Given the description of an element on the screen output the (x, y) to click on. 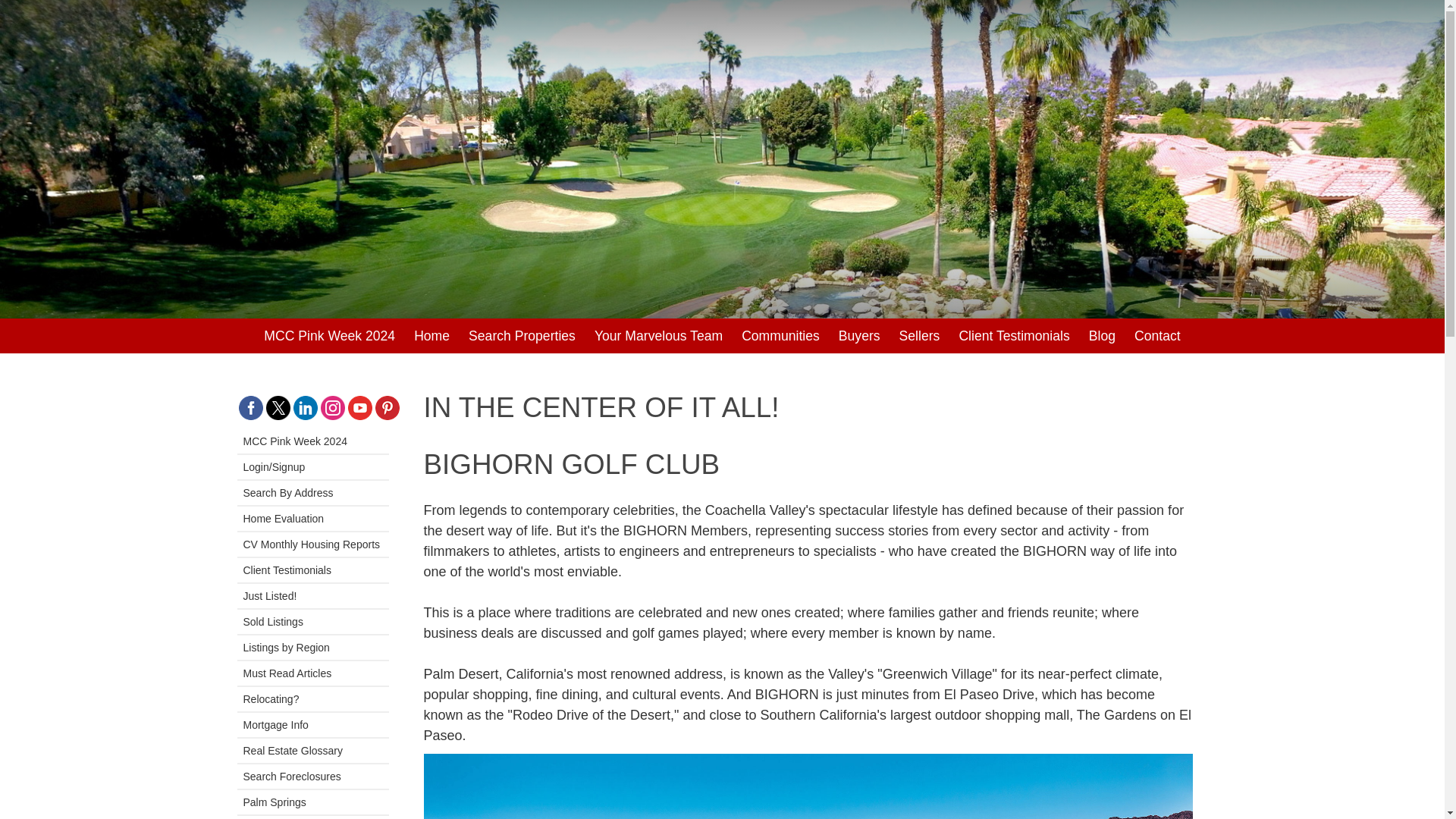
Search By Address (311, 493)
MCC Pink Week 2024 (311, 442)
Communities (780, 335)
Listings by Region (311, 647)
MCC Pink Week 2024 (328, 335)
Home Evaluation (311, 519)
Rancho Mirage (311, 817)
CV Monthly Housing Reports (311, 544)
Client Testimonials (311, 570)
Relocating? (311, 699)
Your Marvelous Team (658, 335)
Real Estate Glossary (311, 751)
Must Read Articles (311, 673)
Just Listed! (311, 596)
Client Testimonials (1013, 335)
